Given the description of an element on the screen output the (x, y) to click on. 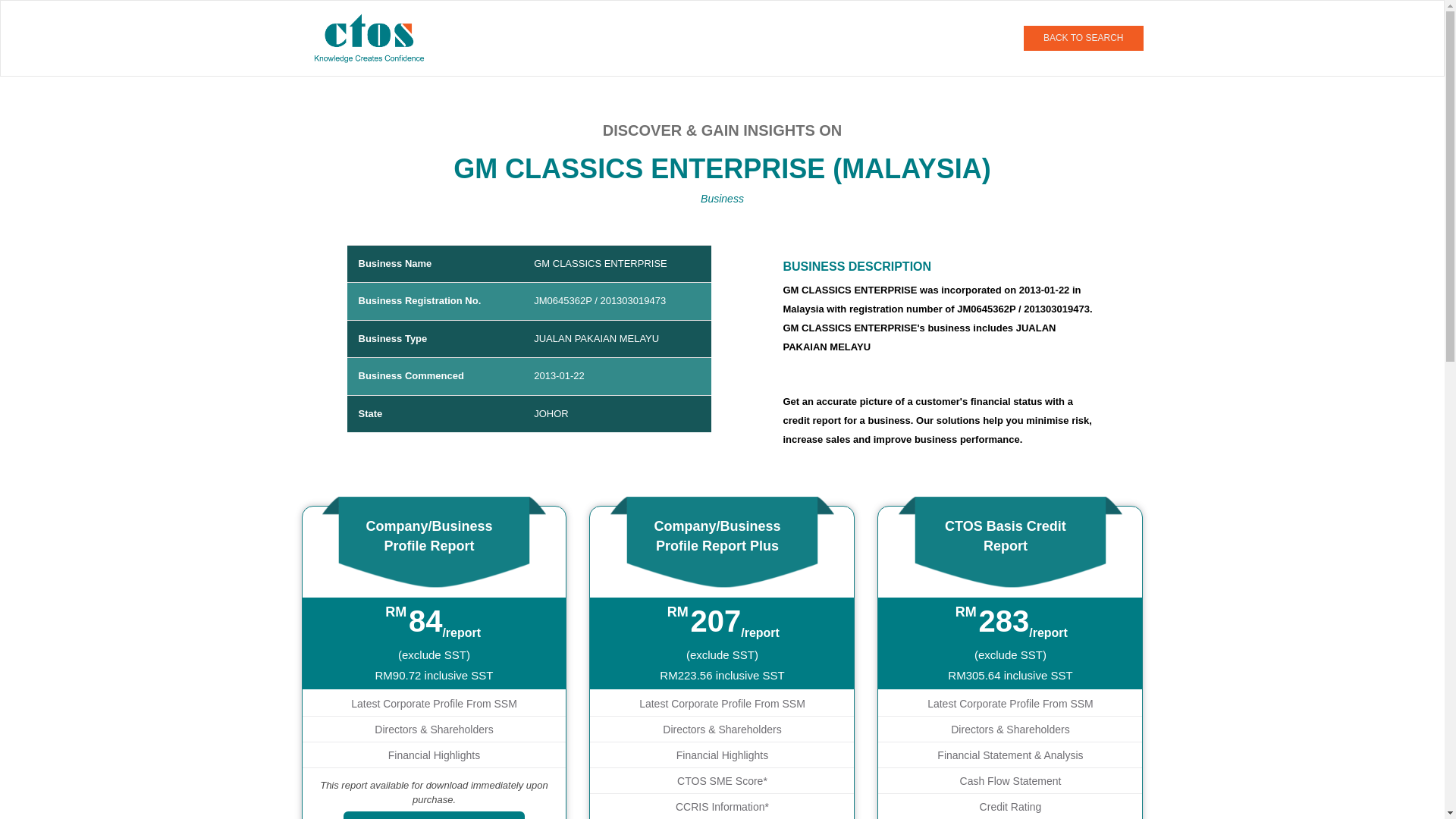
Purchase Report (433, 815)
BACK TO SEARCH (1082, 37)
CTOS - Malaysia's Leading Credit Reporting Agency (374, 37)
